Given the description of an element on the screen output the (x, y) to click on. 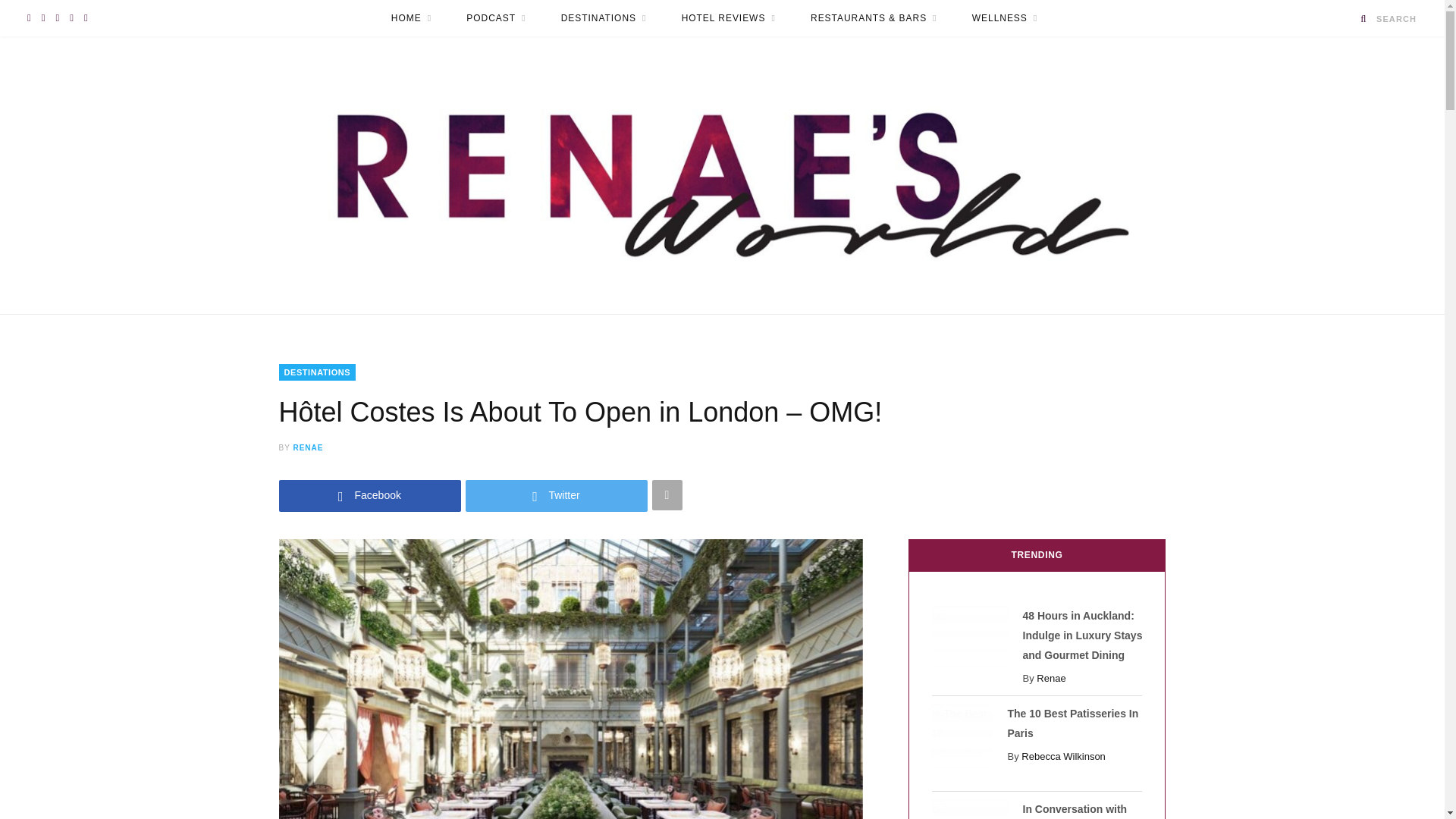
PODCAST (495, 18)
Twitter (556, 495)
Facebook (370, 495)
HOTEL REVIEWS (728, 18)
DESTINATIONS (603, 18)
Posts by Renae (307, 447)
HOME (410, 18)
